Given the description of an element on the screen output the (x, y) to click on. 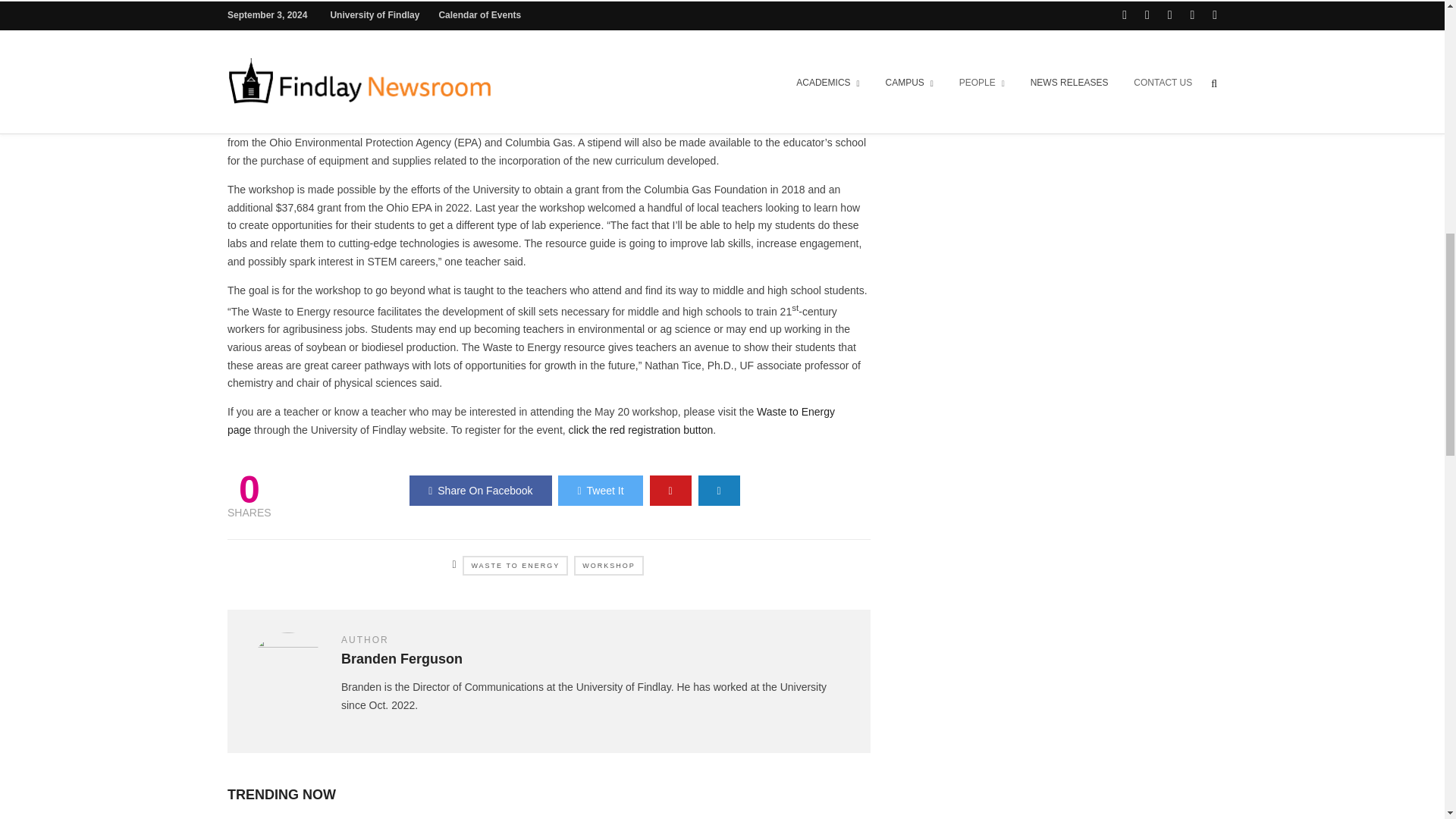
Share On Facebook (480, 490)
Share On Pinterest (670, 490)
Share by Email (718, 490)
Share On Twitter (599, 490)
